Given the description of an element on the screen output the (x, y) to click on. 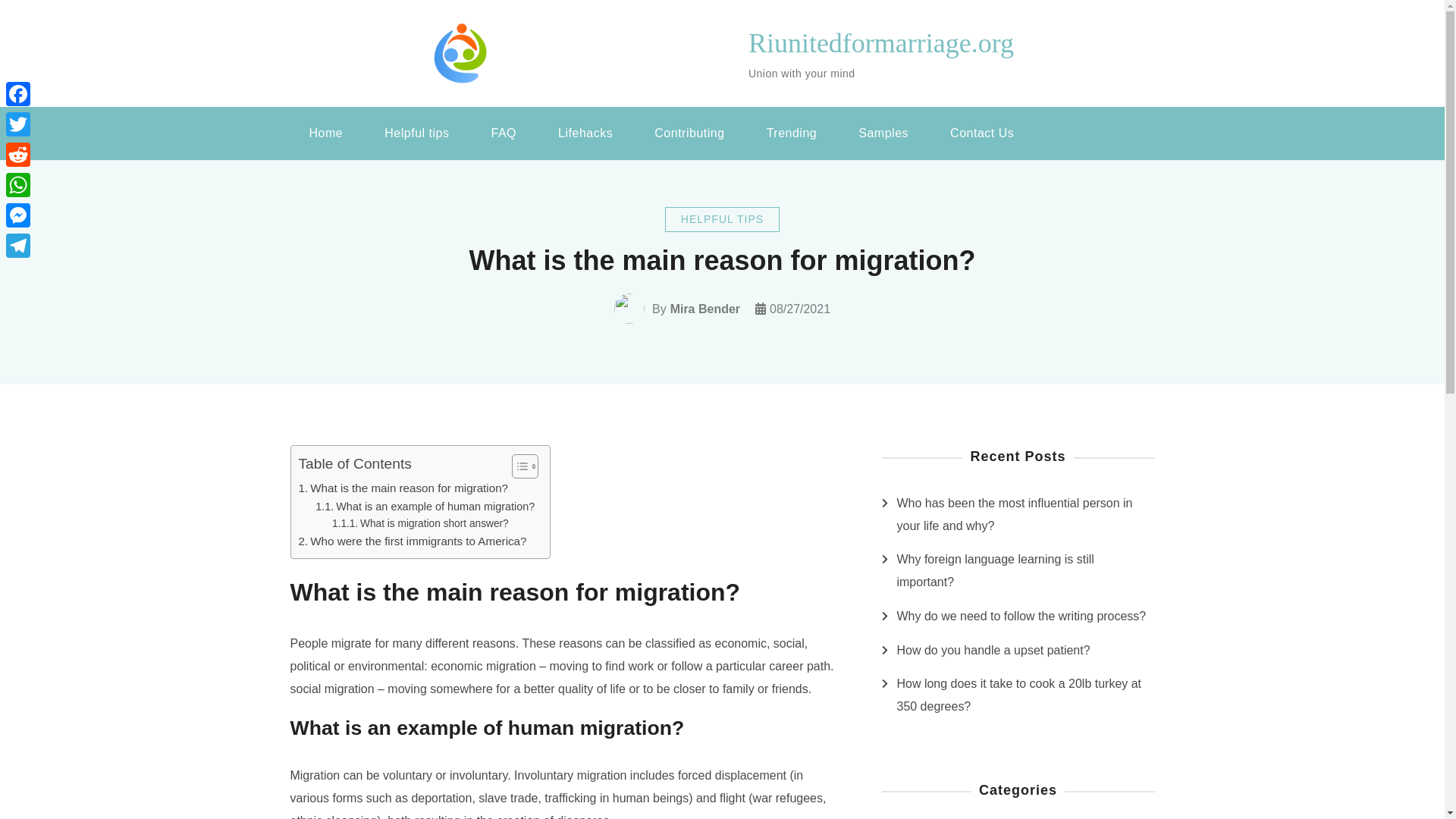
How do you handle a upset patient? (992, 650)
HELPFUL TIPS (721, 219)
What is migration short answer? (419, 523)
Telegram (17, 245)
Mira Bender (704, 308)
FAQ (503, 133)
Samples (883, 133)
What is the main reason for migration? (403, 488)
Twitter (17, 123)
Lifehacks (584, 133)
What is the main reason for migration? (403, 488)
Who were the first immigrants to America? (412, 541)
Home (325, 133)
Facebook (17, 93)
